Given the description of an element on the screen output the (x, y) to click on. 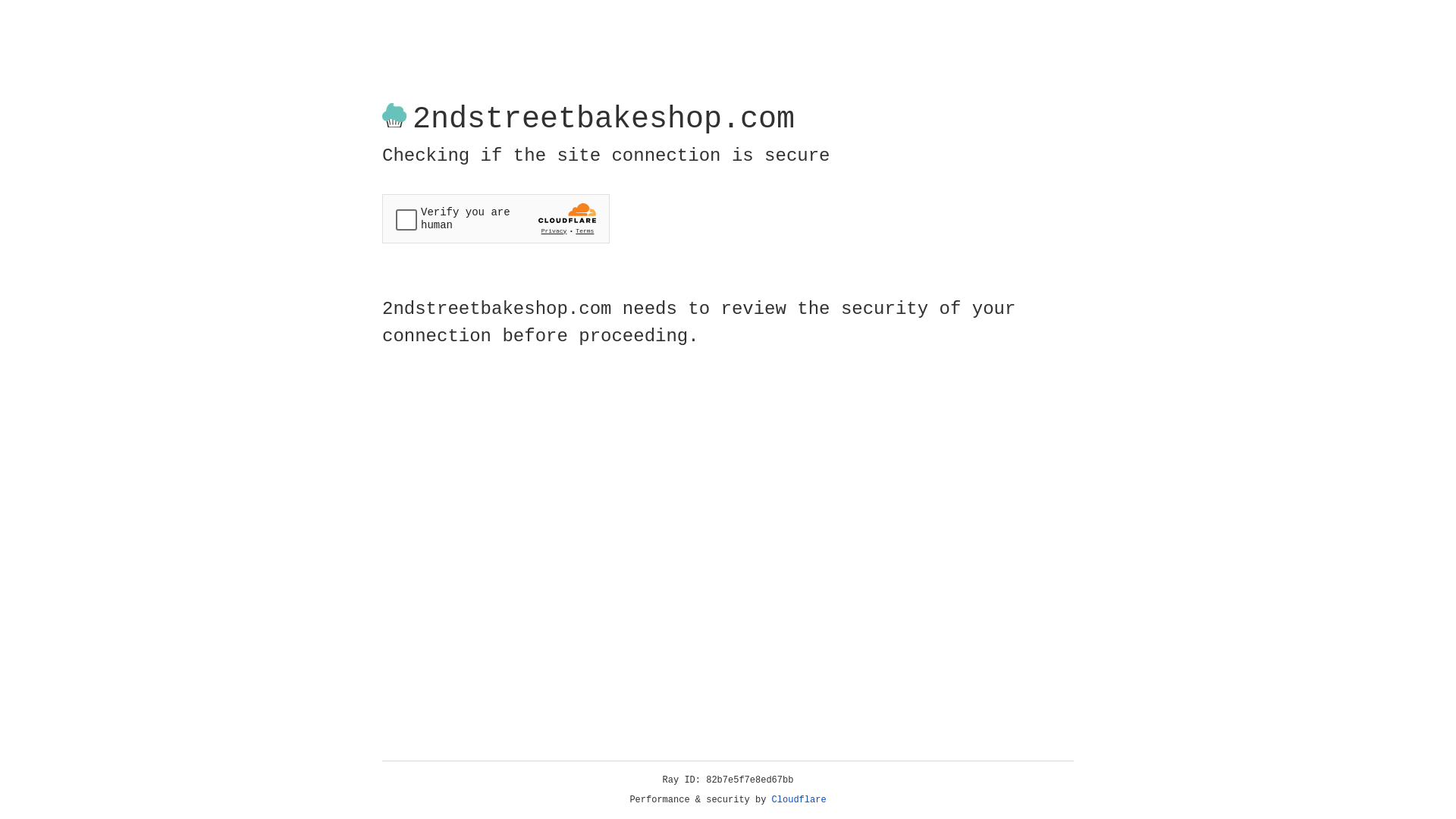
Widget containing a Cloudflare security challenge Element type: hover (495, 218)
Cloudflare Element type: text (798, 799)
